Given the description of an element on the screen output the (x, y) to click on. 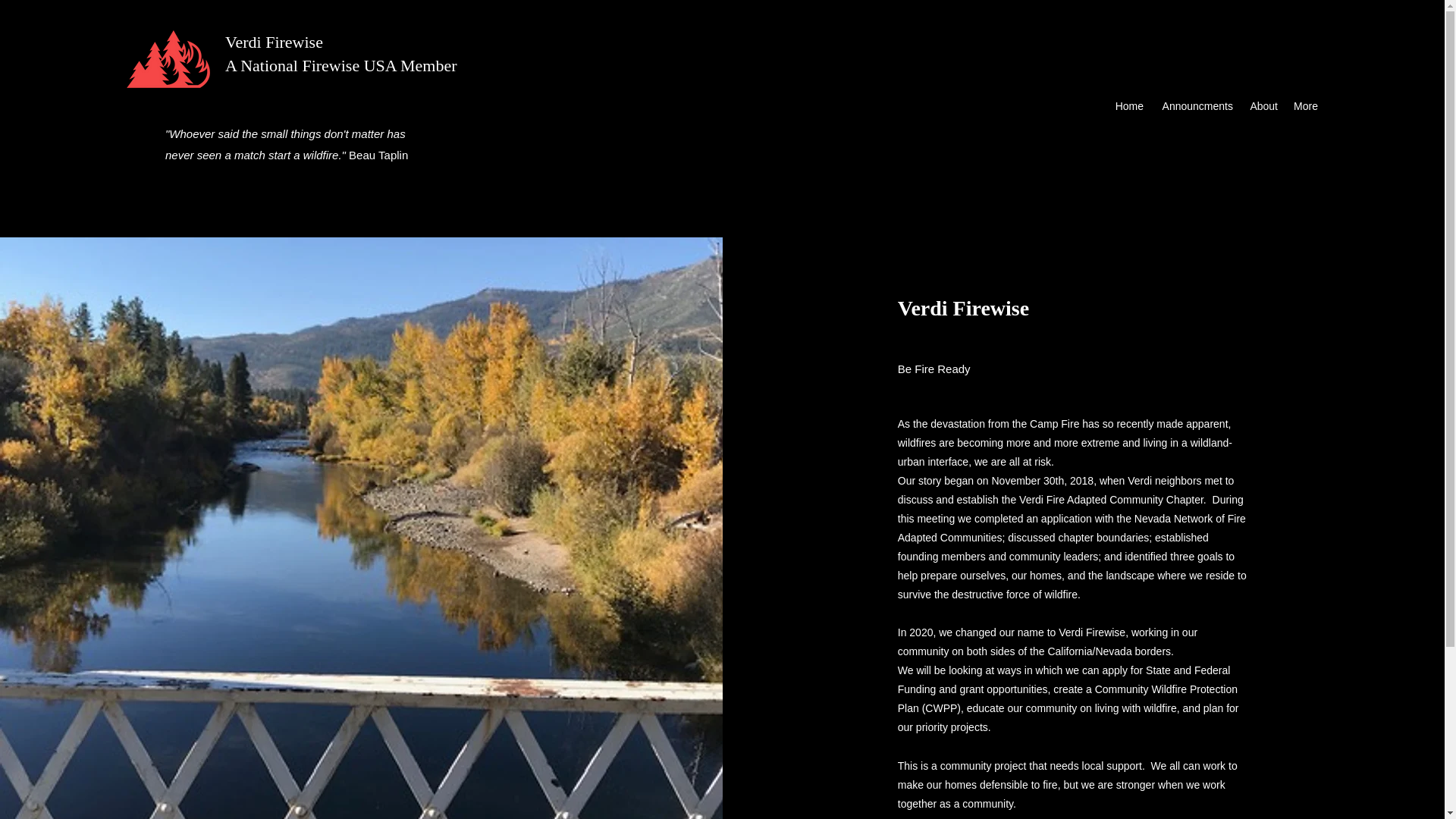
Home (1128, 106)
About (1262, 106)
Announcments (1195, 106)
